Given the description of an element on the screen output the (x, y) to click on. 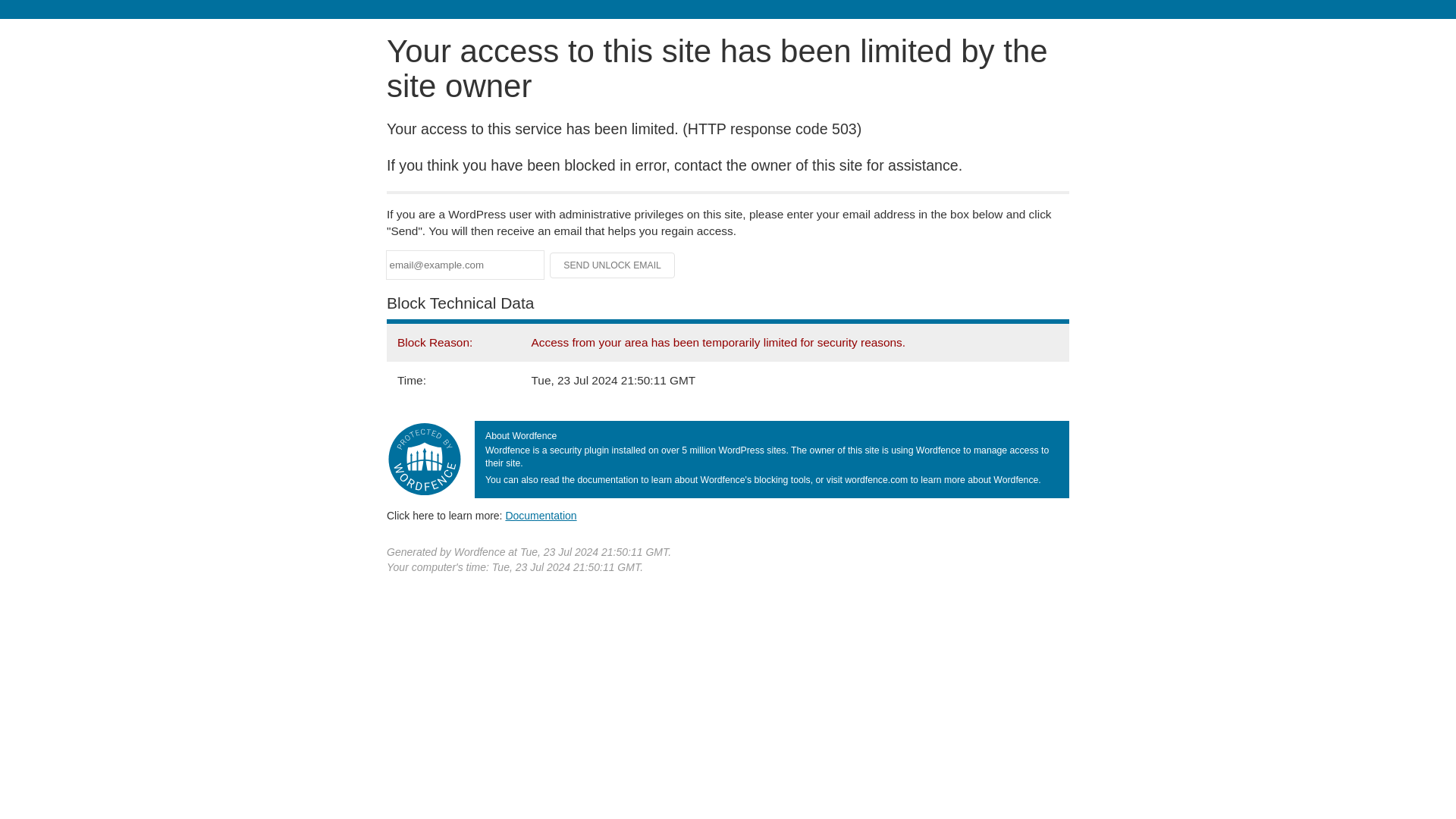
Send Unlock Email (612, 265)
Send Unlock Email (612, 265)
Documentation (540, 515)
